Given the description of an element on the screen output the (x, y) to click on. 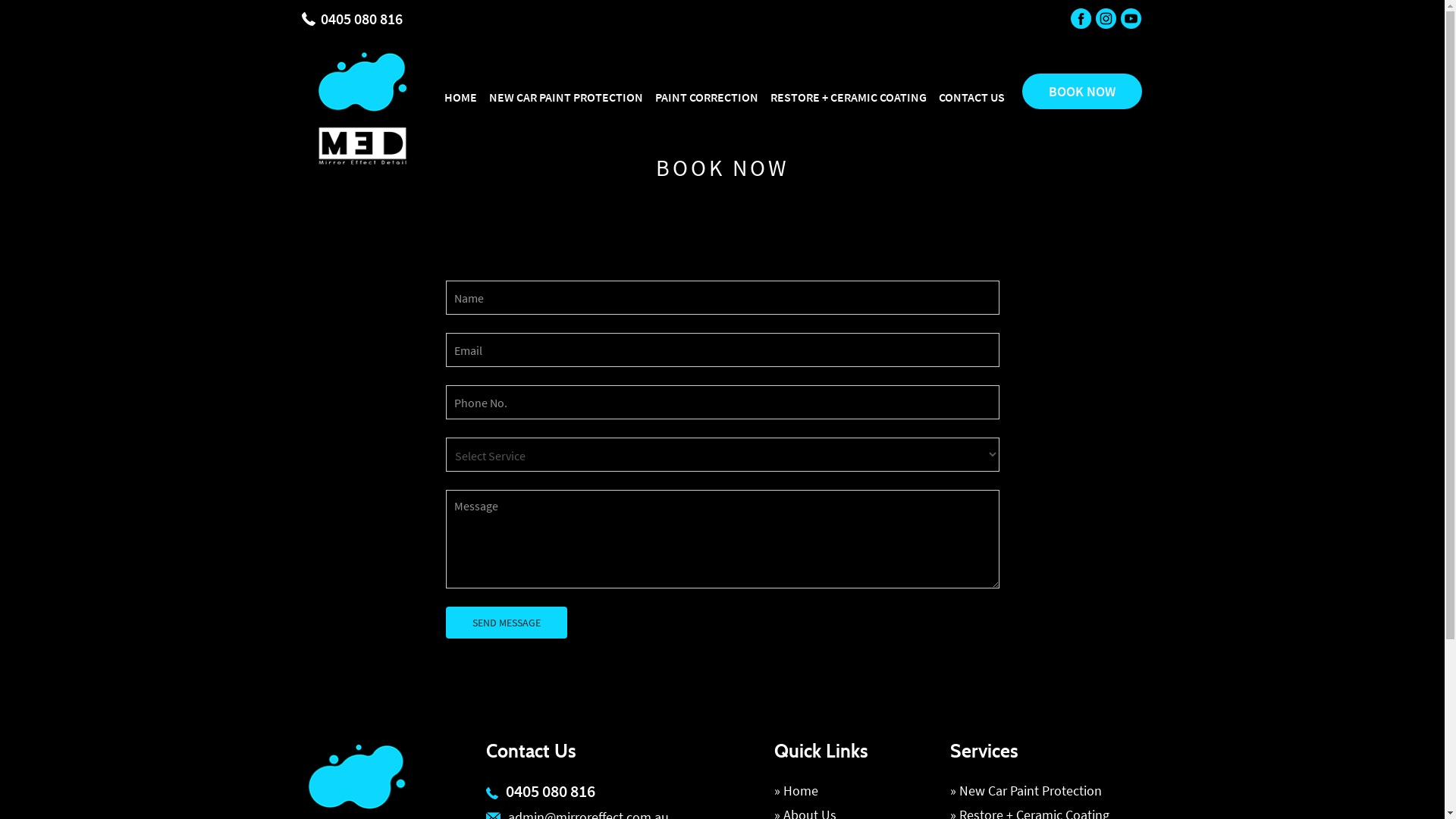
NEW CAR PAINT PROTECTION Element type: text (565, 96)
BOOK NOW Element type: text (1082, 91)
PAINT CORRECTION Element type: text (705, 96)
HOME Element type: text (459, 96)
0405 080 816 Element type: text (360, 18)
Send Message Element type: text (506, 622)
0405 080 816 Element type: text (550, 790)
RESTORE + CERAMIC COATING Element type: text (847, 96)
SKIP TO CONTENT Element type: text (443, 76)
CONTACT US Element type: text (970, 96)
